Given the description of an element on the screen output the (x, y) to click on. 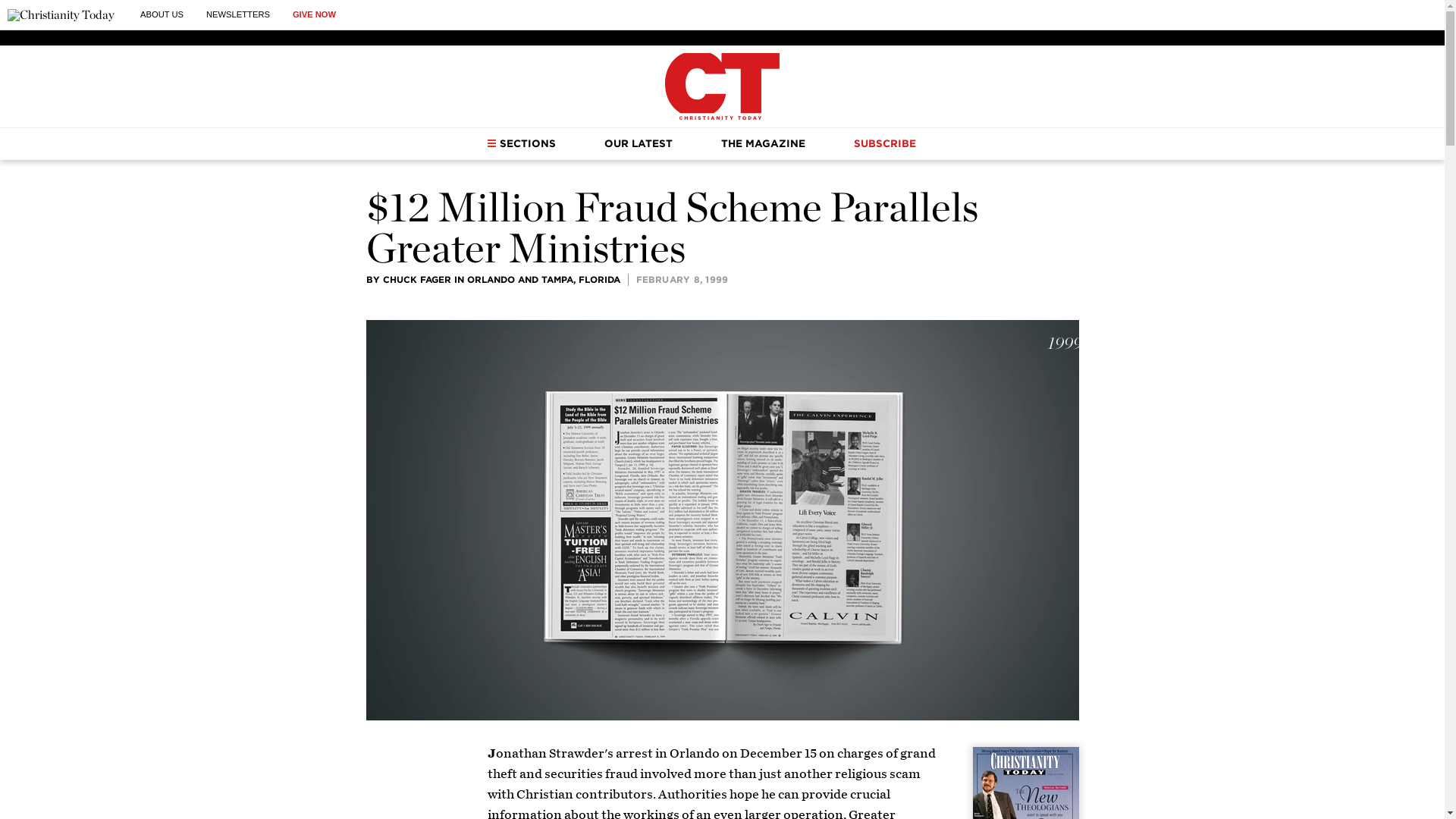
Sections Dropdown (491, 143)
SECTIONS (521, 143)
NEWSLETTERS (238, 14)
ABOUT US (161, 14)
GIVE NOW (314, 14)
Christianity Today (61, 15)
Christianity Today (721, 86)
